Given the description of an element on the screen output the (x, y) to click on. 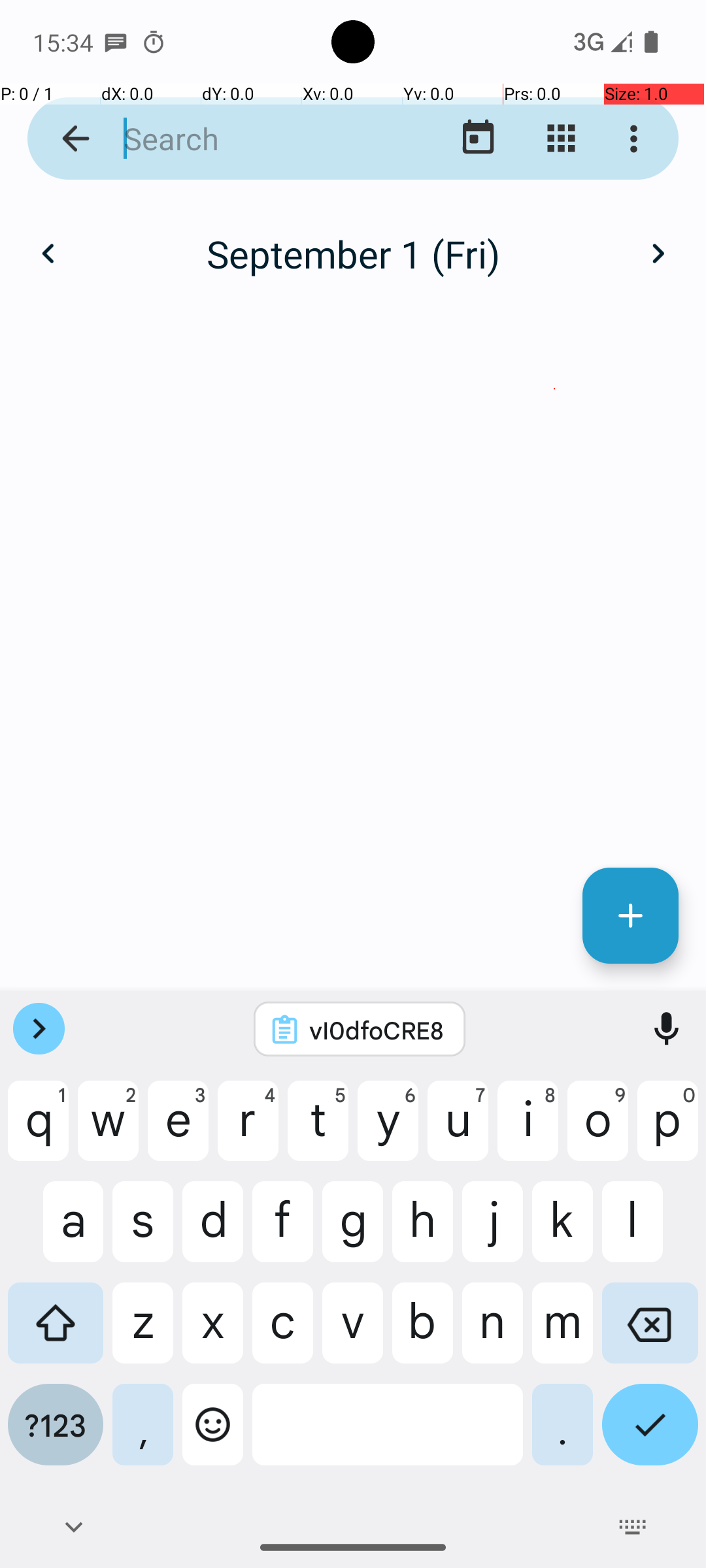
September 1 (Fri) Element type: android.widget.TextView (352, 253)
vI0dfoCRE8 Element type: android.widget.TextView (376, 1029)
